Given the description of an element on the screen output the (x, y) to click on. 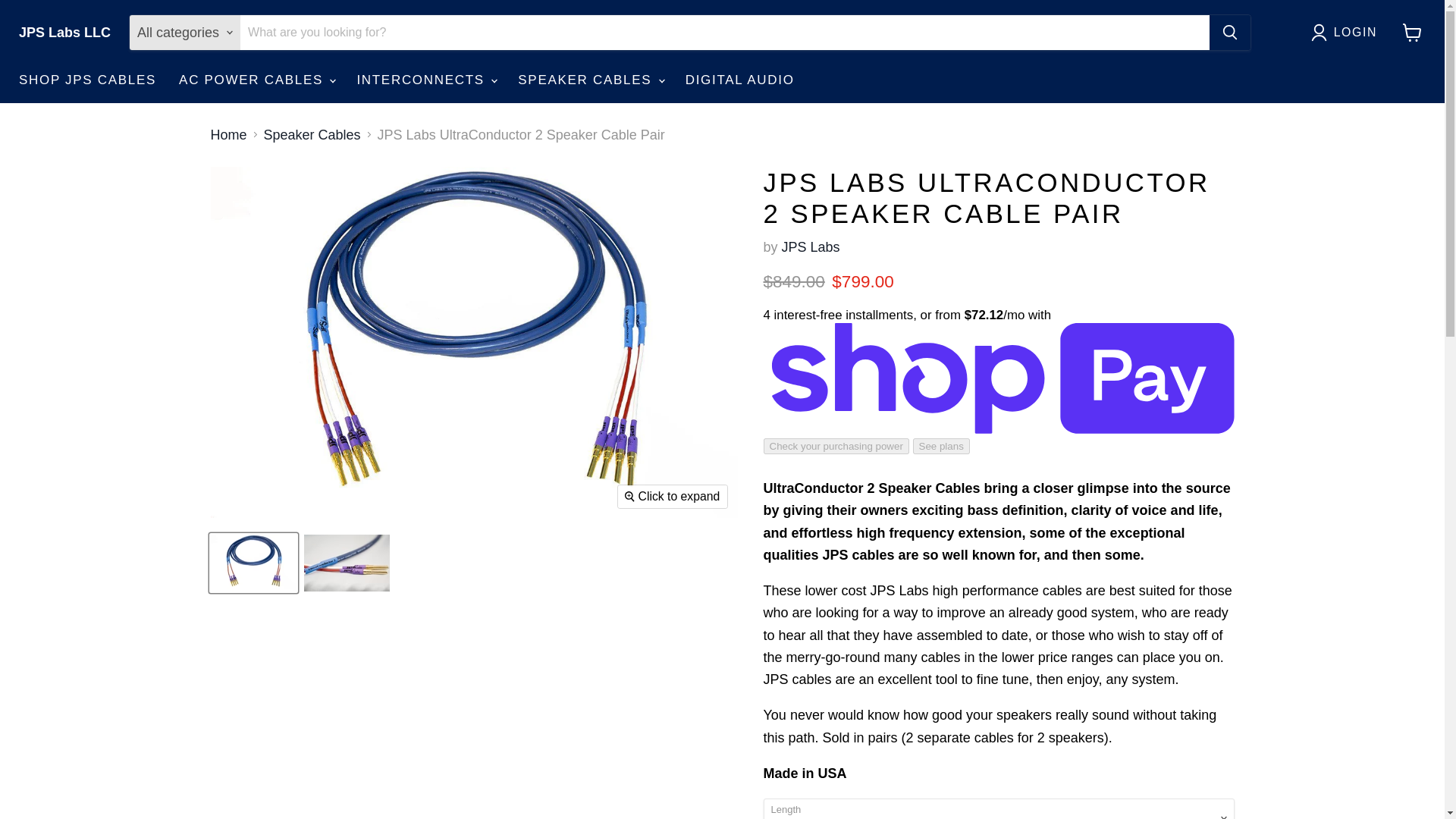
DIGITAL AUDIO (740, 80)
LOGIN (1347, 32)
JPS Labs (810, 246)
SHOP JPS CABLES (87, 80)
JPS Labs LLC (64, 32)
View cart (1411, 32)
